Given the description of an element on the screen output the (x, y) to click on. 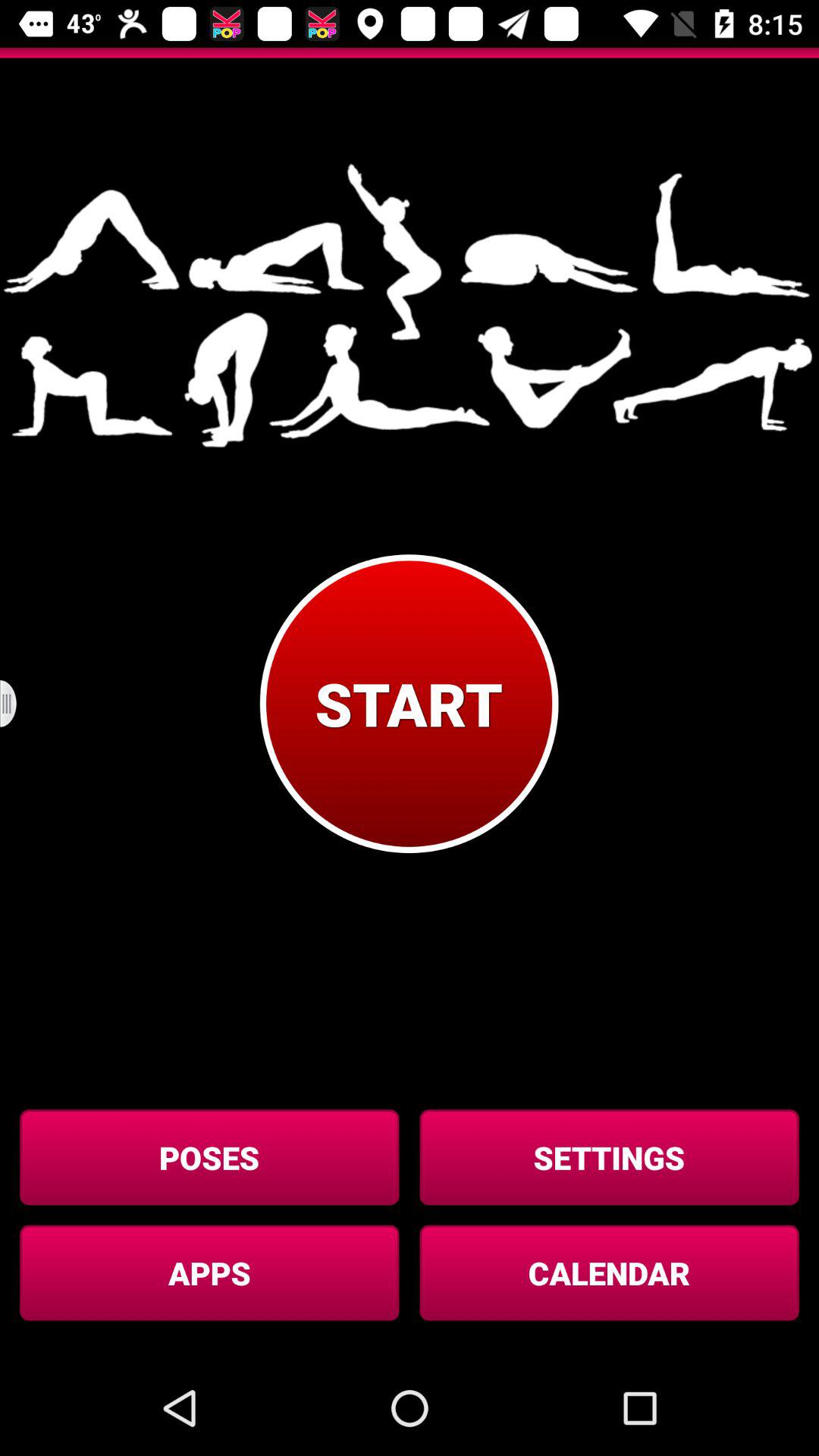
scroll to the apps button (209, 1272)
